Given the description of an element on the screen output the (x, y) to click on. 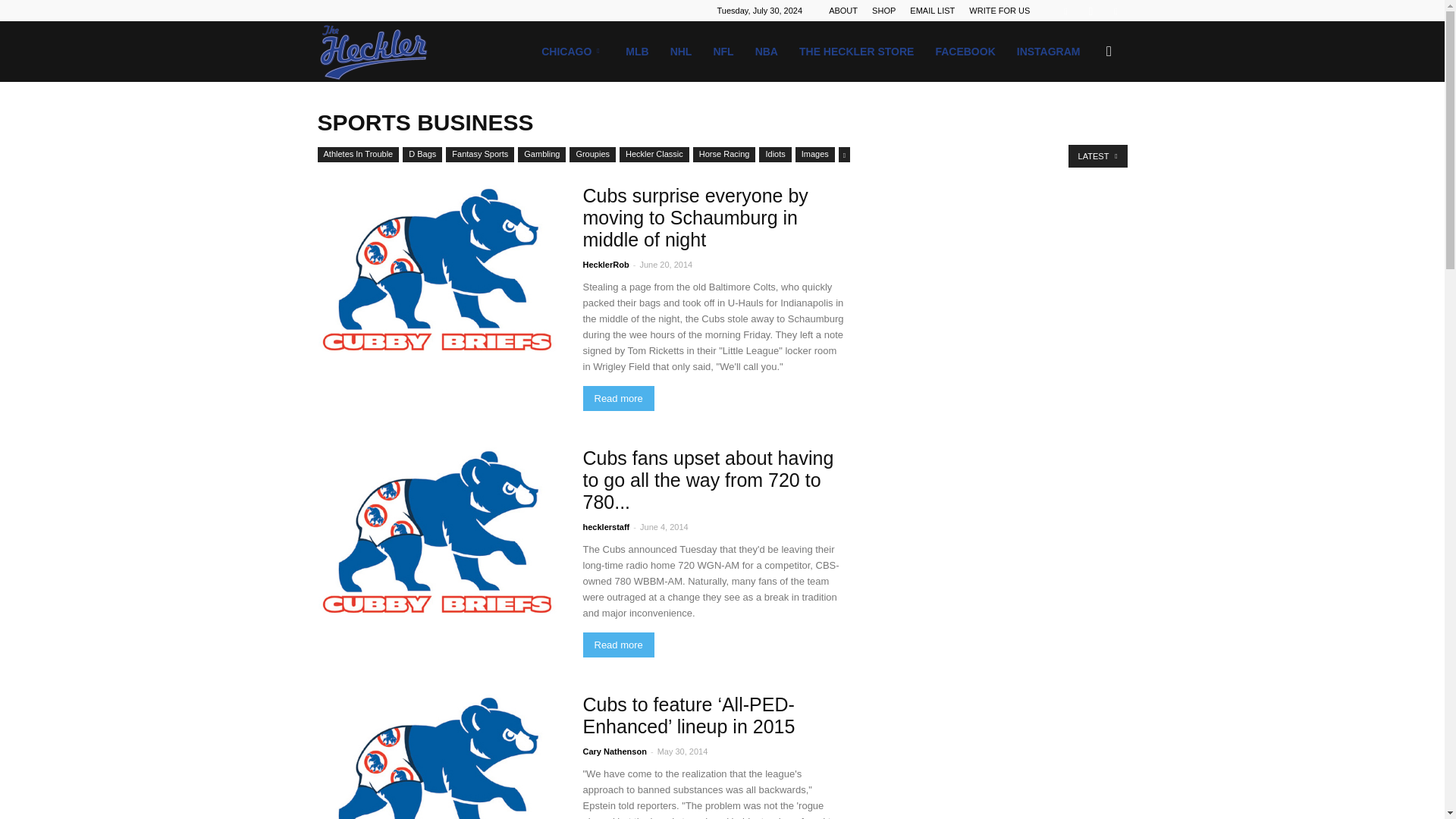
EMAIL LIST (932, 10)
The Heckler (373, 52)
WRITE FOR US (999, 10)
Twitter (1114, 10)
Facebook (1065, 10)
ABOUT (842, 10)
Instagram (1090, 10)
SHOP (883, 10)
Search (1085, 124)
